Given the description of an element on the screen output the (x, y) to click on. 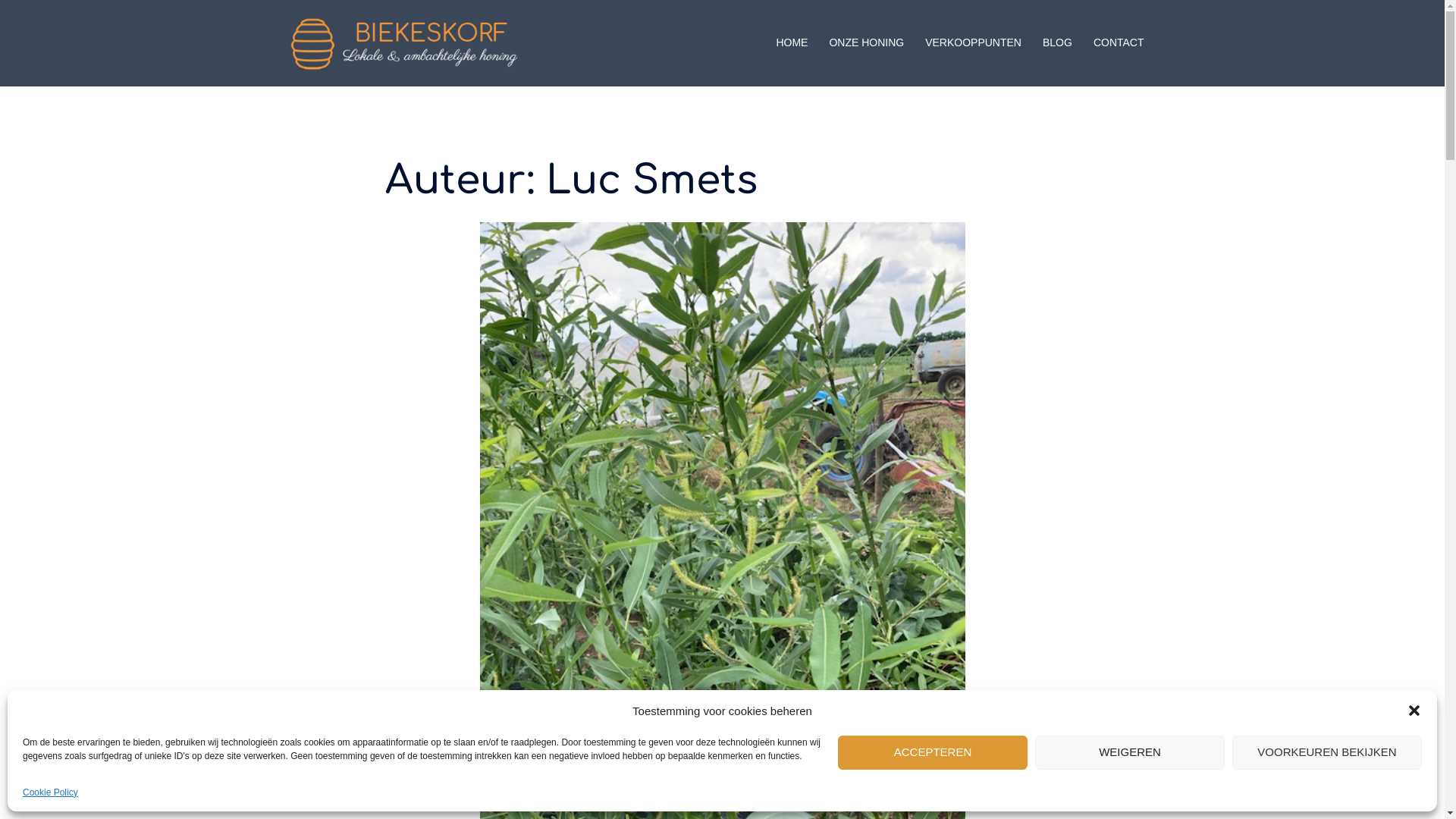
VOORKEUREN BEKIJKEN Element type: text (1326, 752)
Cookie Policy Element type: text (50, 792)
ACCEPTEREN Element type: text (932, 752)
BLOG Element type: text (1057, 43)
Biekeskorf Element type: hover (403, 41)
HOME Element type: text (791, 43)
WEIGEREN Element type: text (1129, 752)
Plantenverkoop Salix Element type: hover (721, 544)
CONTACT Element type: text (1118, 43)
ONZE HONING Element type: text (865, 43)
VERKOOPPUNTEN Element type: text (973, 43)
